Given the description of an element on the screen output the (x, y) to click on. 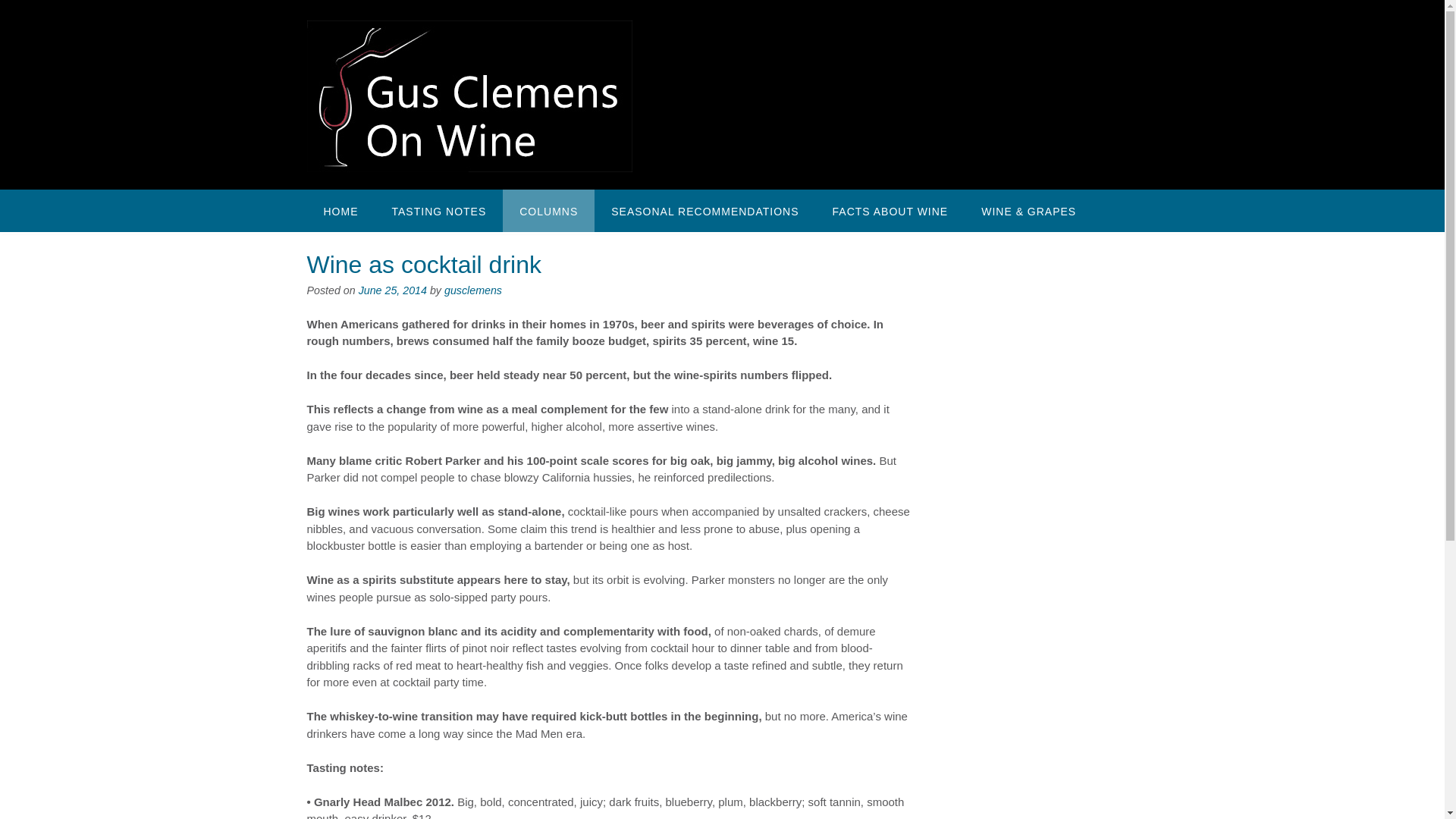
June 25, 2014 (392, 290)
COLUMNS (548, 210)
SEASONAL RECOMMENDATIONS (704, 210)
TASTING NOTES (438, 210)
HOME (339, 210)
gusclemens (473, 290)
FACTS ABOUT WINE (890, 210)
